Given the description of an element on the screen output the (x, y) to click on. 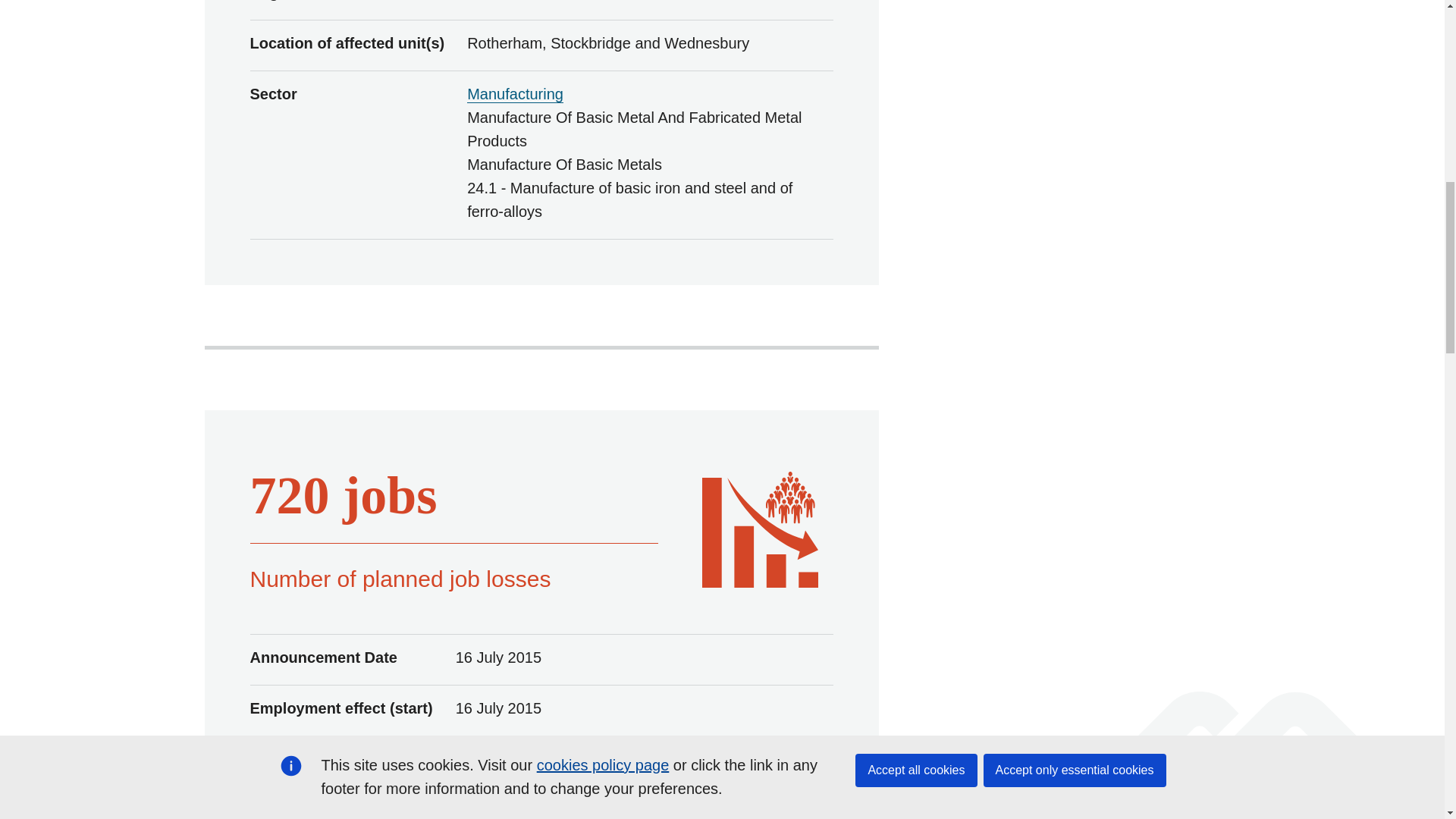
Manufacturing (515, 94)
